Given the description of an element on the screen output the (x, y) to click on. 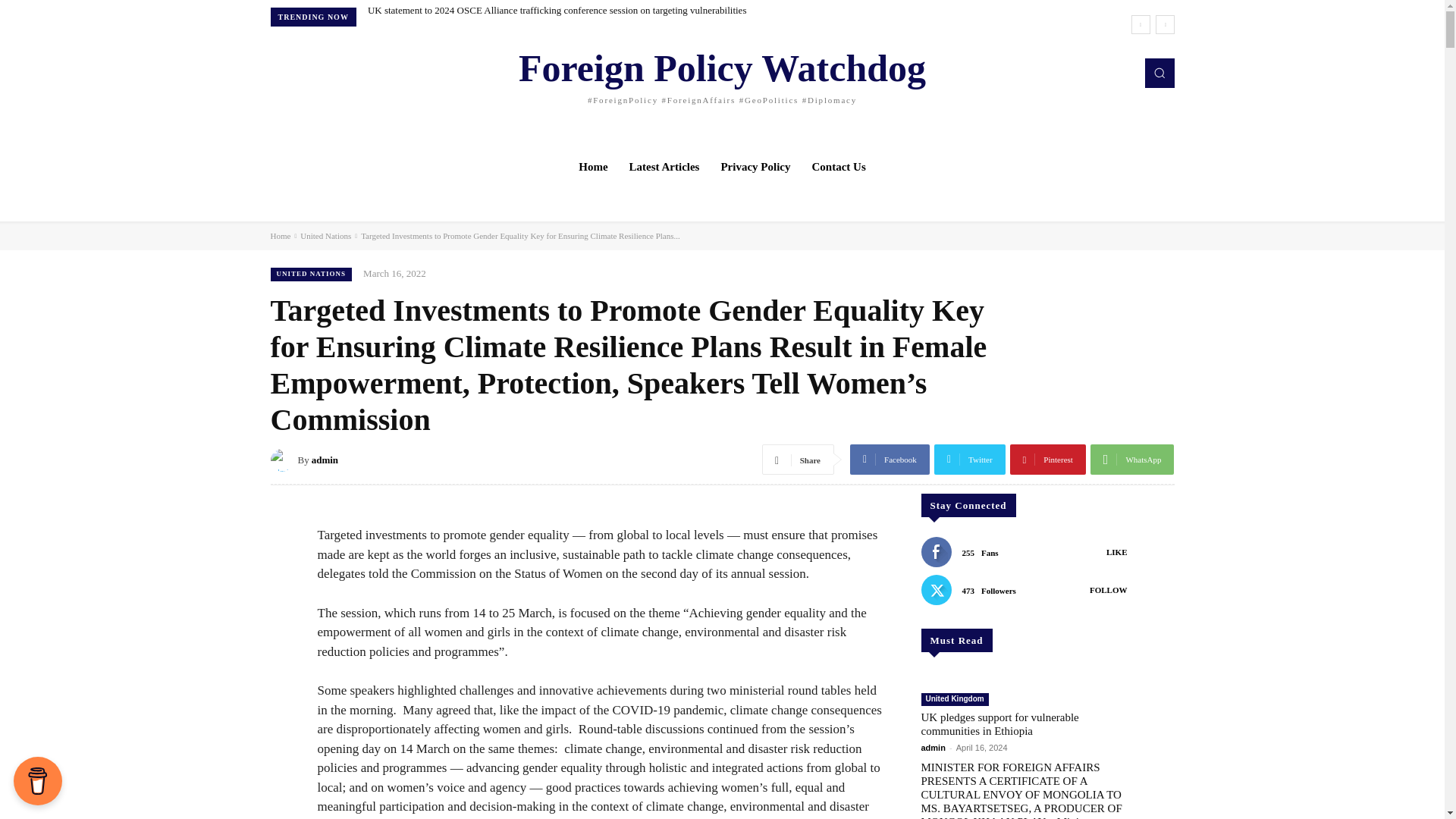
Home (279, 235)
admin (324, 459)
Home (592, 166)
admin (283, 459)
Facebook (890, 459)
View all posts in United Nations (324, 235)
Latest Articles (664, 166)
UNITED NATIONS (310, 273)
United Nations (324, 235)
Contact Us (839, 166)
Privacy Policy (755, 166)
